Given the description of an element on the screen output the (x, y) to click on. 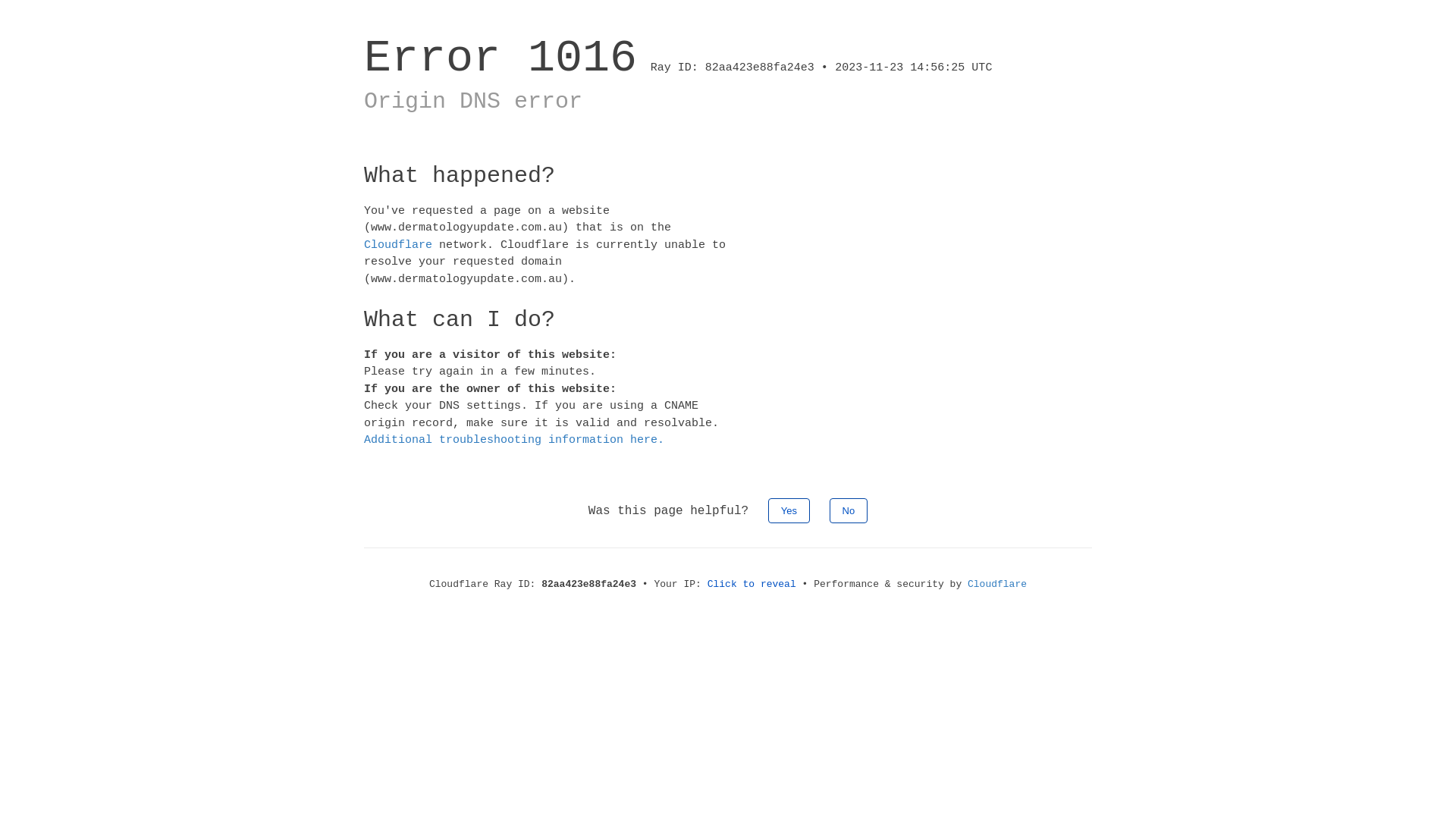
Additional troubleshooting information here. Element type: text (514, 439)
Cloudflare Element type: text (996, 583)
No Element type: text (848, 509)
Click to reveal Element type: text (751, 583)
Cloudflare Element type: text (398, 244)
Yes Element type: text (788, 509)
